Given the description of an element on the screen output the (x, y) to click on. 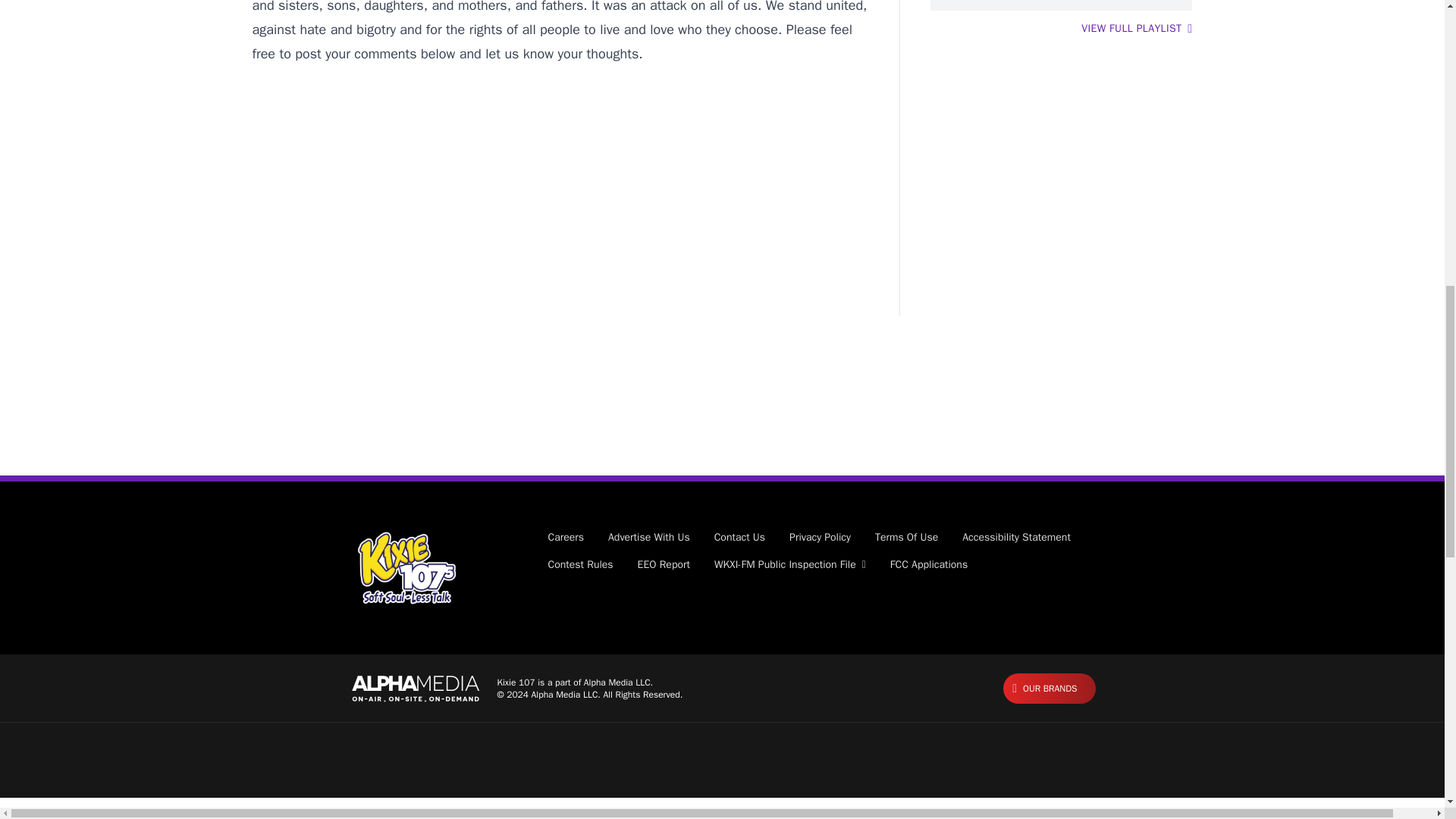
3rd party ad content (560, 190)
3rd party ad content (721, 426)
